Given the description of an element on the screen output the (x, y) to click on. 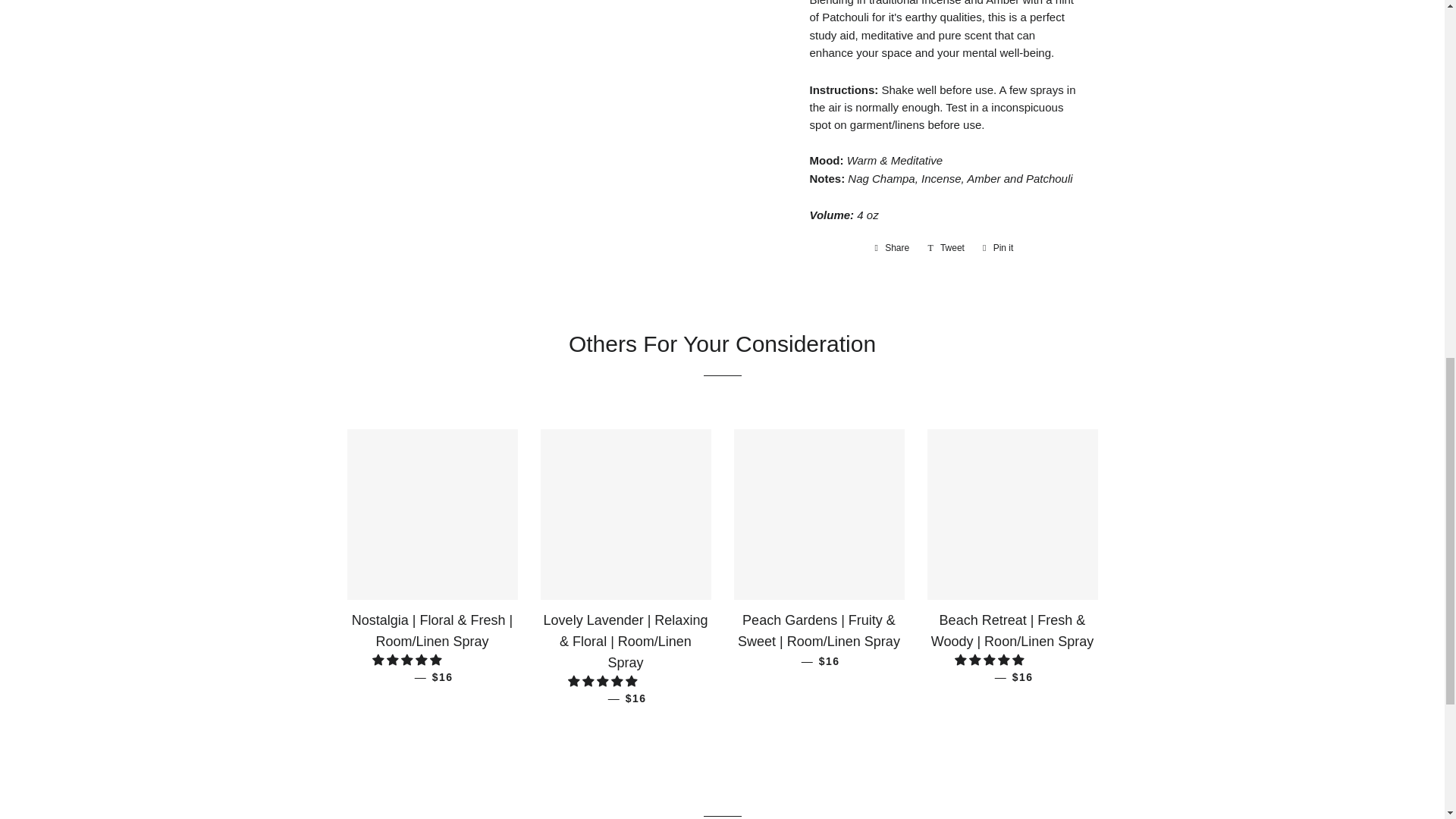
Share on Facebook (892, 247)
Pin on Pinterest (997, 247)
Tweet on Twitter (946, 247)
